Given the description of an element on the screen output the (x, y) to click on. 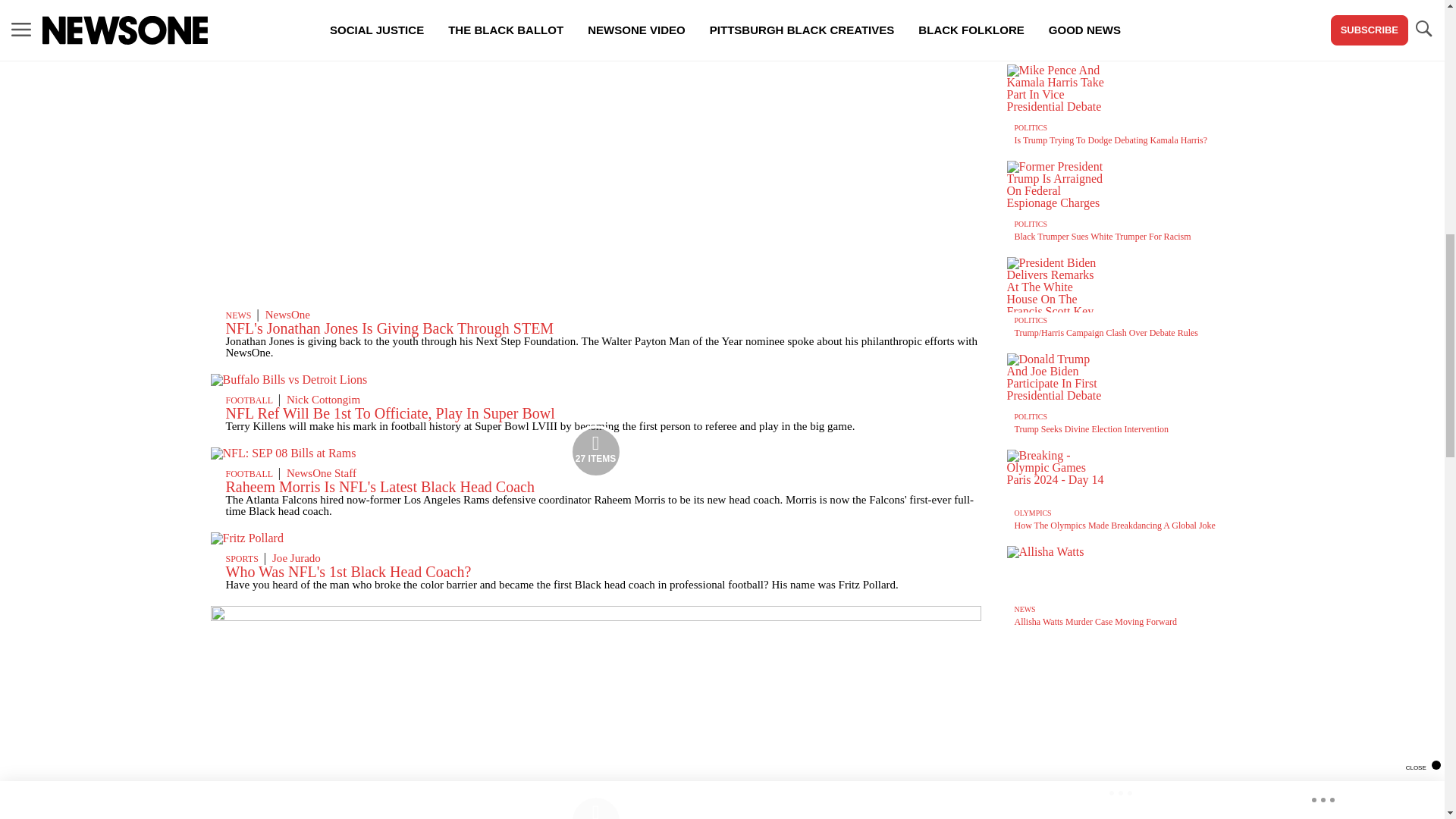
NewsOne Staff (321, 472)
Media Playlist (596, 806)
FOOTBALL (249, 473)
27 ITEMS (283, 452)
NFL Ref Will Be 1st To Officiate, Play In Super Bowl (389, 412)
NewsOne (287, 314)
NFL's Jonathan Jones Is Giving Back Through STEM (389, 328)
Media Playlist (596, 451)
Nick Cottongim (322, 399)
FOOTBALL (249, 399)
